Given the description of an element on the screen output the (x, y) to click on. 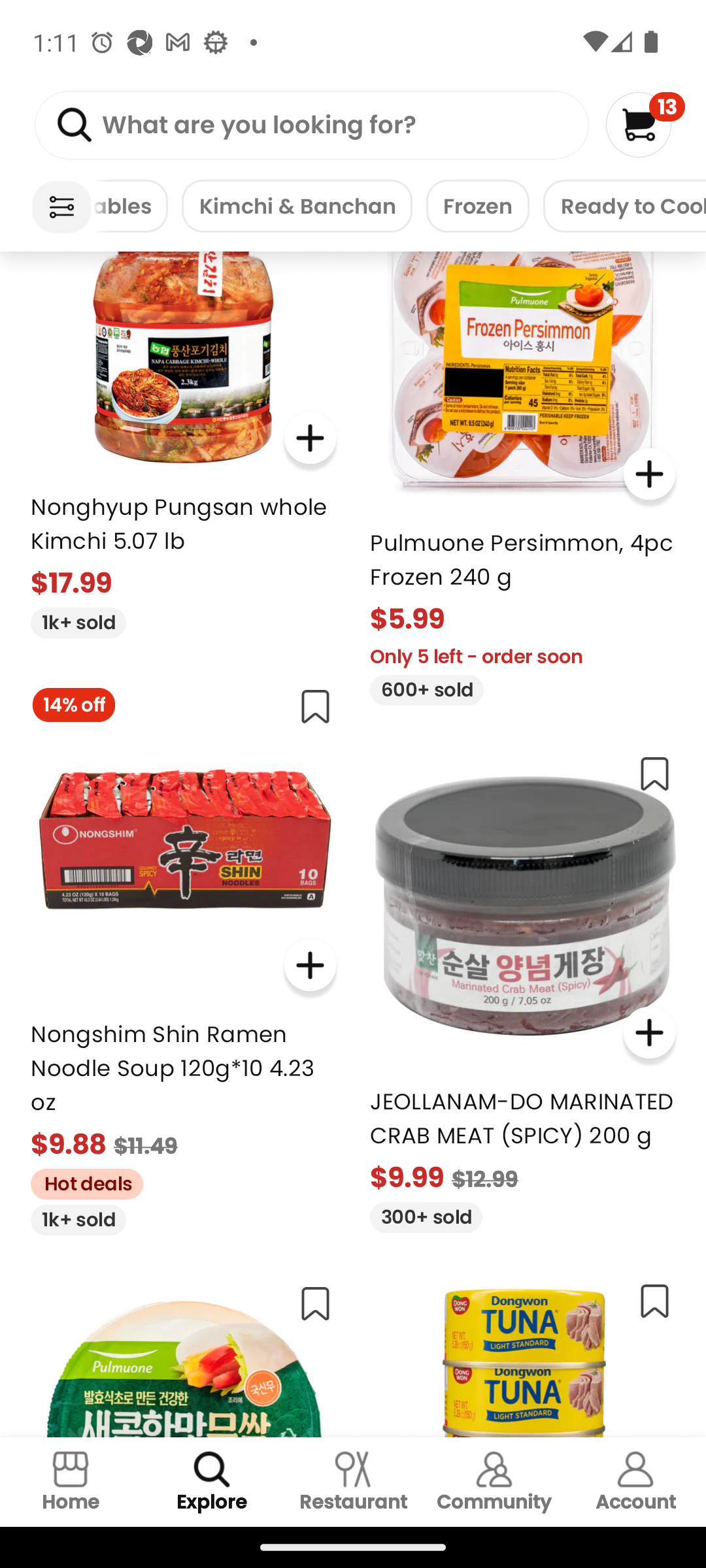
What are you looking for? (311, 124)
13 (644, 124)
Vegetables (130, 206)
Kimchi & Banchan (296, 206)
Frozen (477, 206)
Ready to Cook Meals (624, 206)
Hot deals (79, 1181)
Home (70, 1482)
Explore (211, 1482)
Restaurant (352, 1482)
Community (493, 1482)
Account (635, 1482)
